Given the description of an element on the screen output the (x, y) to click on. 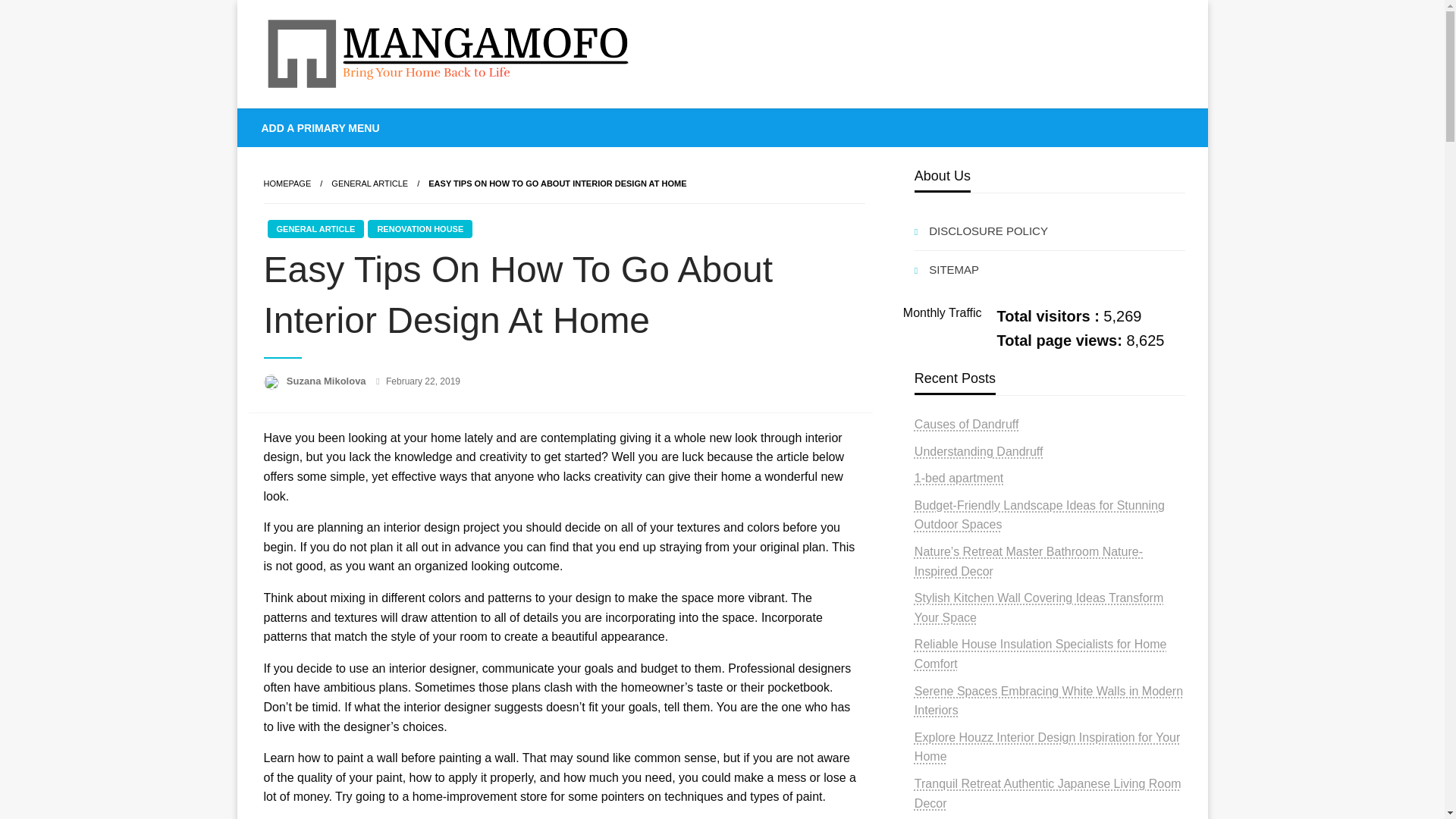
RENOVATION HOUSE (419, 229)
GENERAL ARTICLE (315, 229)
DISCLOSURE POLICY (1049, 231)
Causes of Dandruff (966, 423)
Stylish Kitchen Wall Covering Ideas Transform Your Space (1038, 607)
Reliable House Insulation Specialists for Home Comfort (1040, 654)
HOMEPAGE (287, 183)
SITEMAP (1049, 269)
Understanding Dandruff (978, 451)
Budget-Friendly Landscape Ideas for Stunning Outdoor Spaces (1039, 514)
Suzana Mikolova (327, 380)
Suzana Mikolova (327, 380)
Homepage (287, 183)
MANGAMOFO (364, 120)
